Given the description of an element on the screen output the (x, y) to click on. 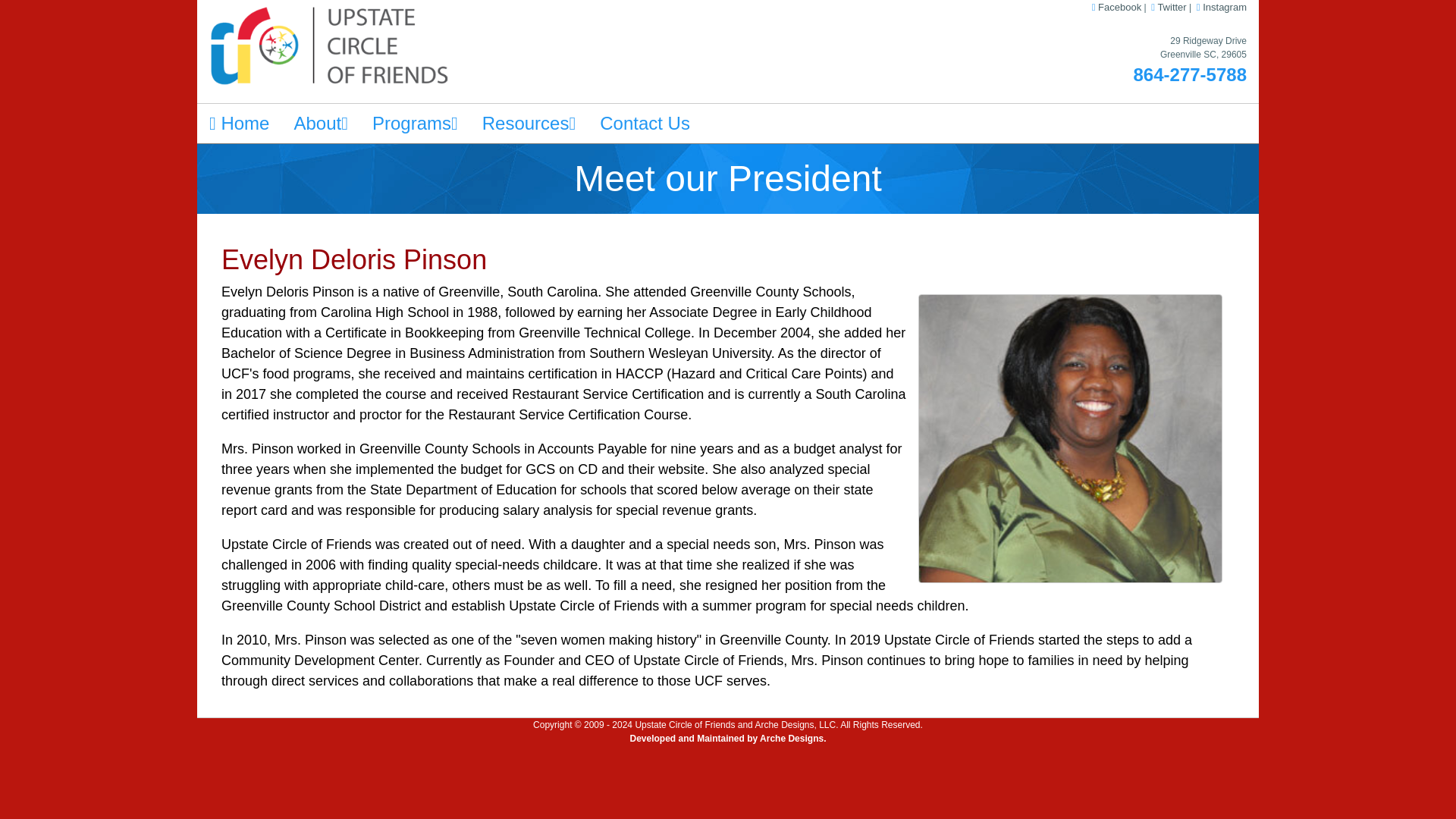
Resources (529, 123)
Contact Us (644, 123)
Home (238, 123)
About (320, 123)
Programs (414, 123)
